Given the description of an element on the screen output the (x, y) to click on. 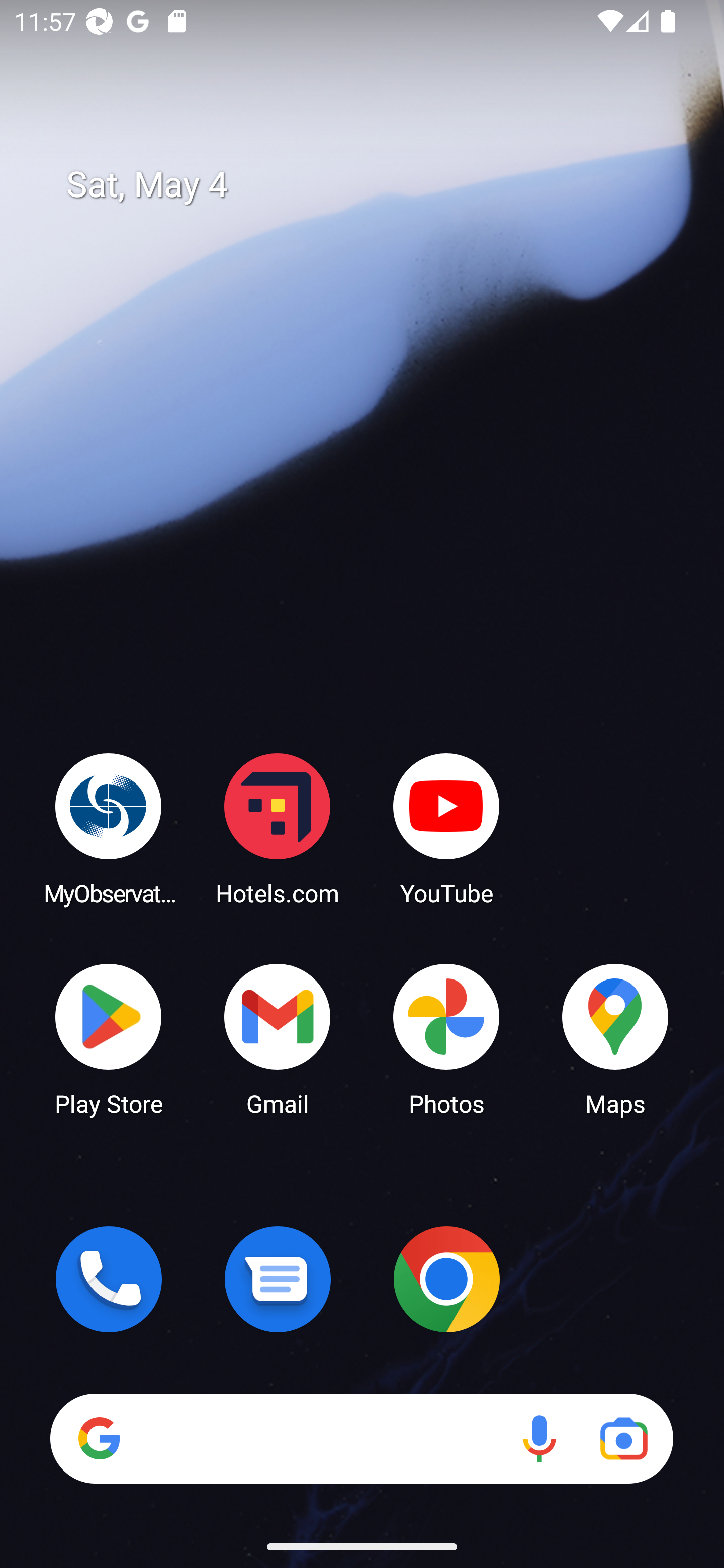
Sat, May 4 (375, 184)
MyObservatory (108, 828)
Hotels.com (277, 828)
YouTube (445, 828)
Play Store (108, 1038)
Gmail (277, 1038)
Photos (445, 1038)
Maps (615, 1038)
Phone (108, 1279)
Messages (277, 1279)
Chrome (446, 1279)
Search Voice search Google Lens (361, 1438)
Voice search (539, 1438)
Google Lens (623, 1438)
